Given the description of an element on the screen output the (x, y) to click on. 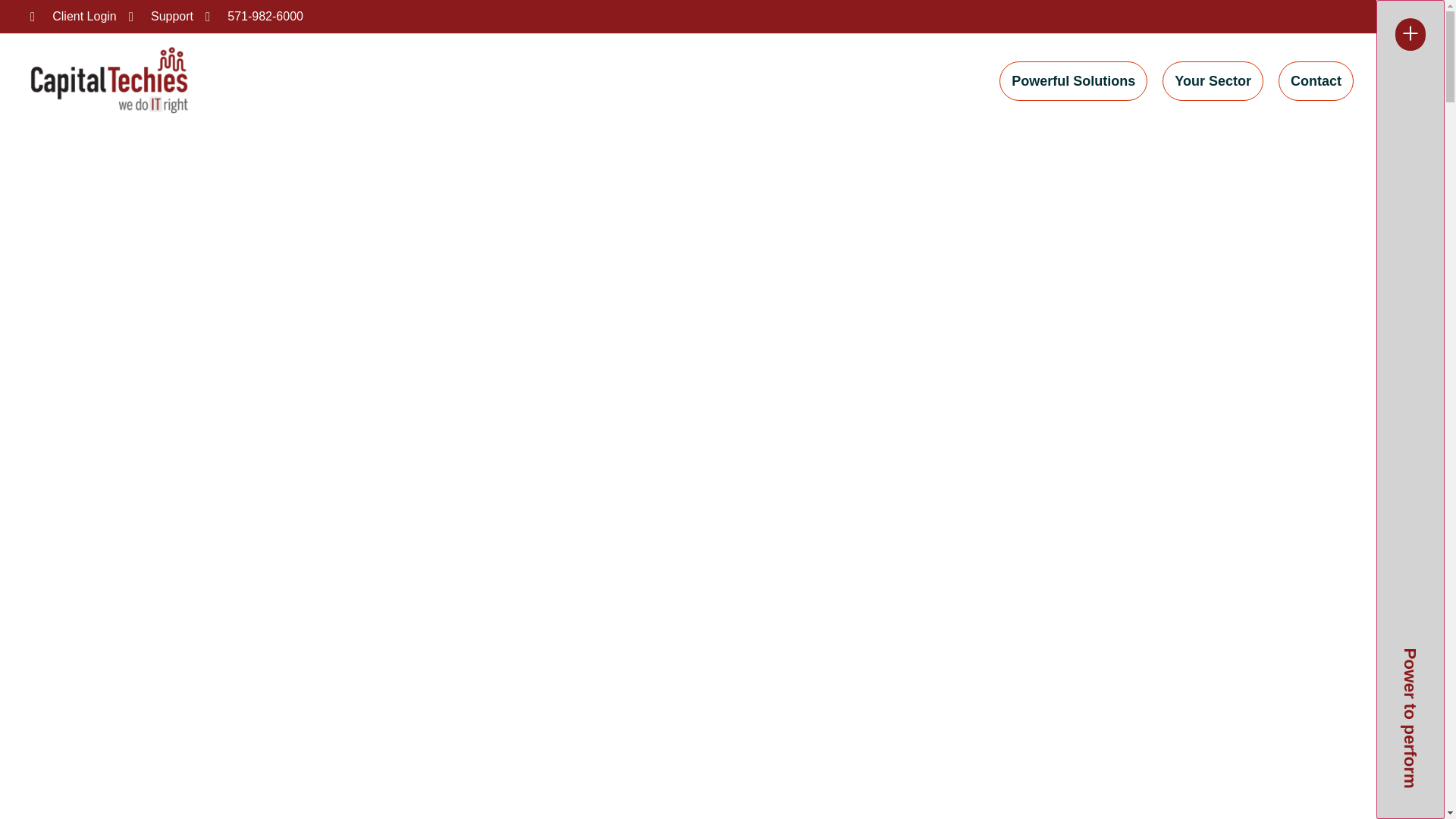
Contact (1316, 80)
Your Sector (1212, 80)
Support (161, 16)
571-982-6000 (253, 16)
Client Login (73, 16)
Powerful Solutions (1072, 80)
